Given the description of an element on the screen output the (x, y) to click on. 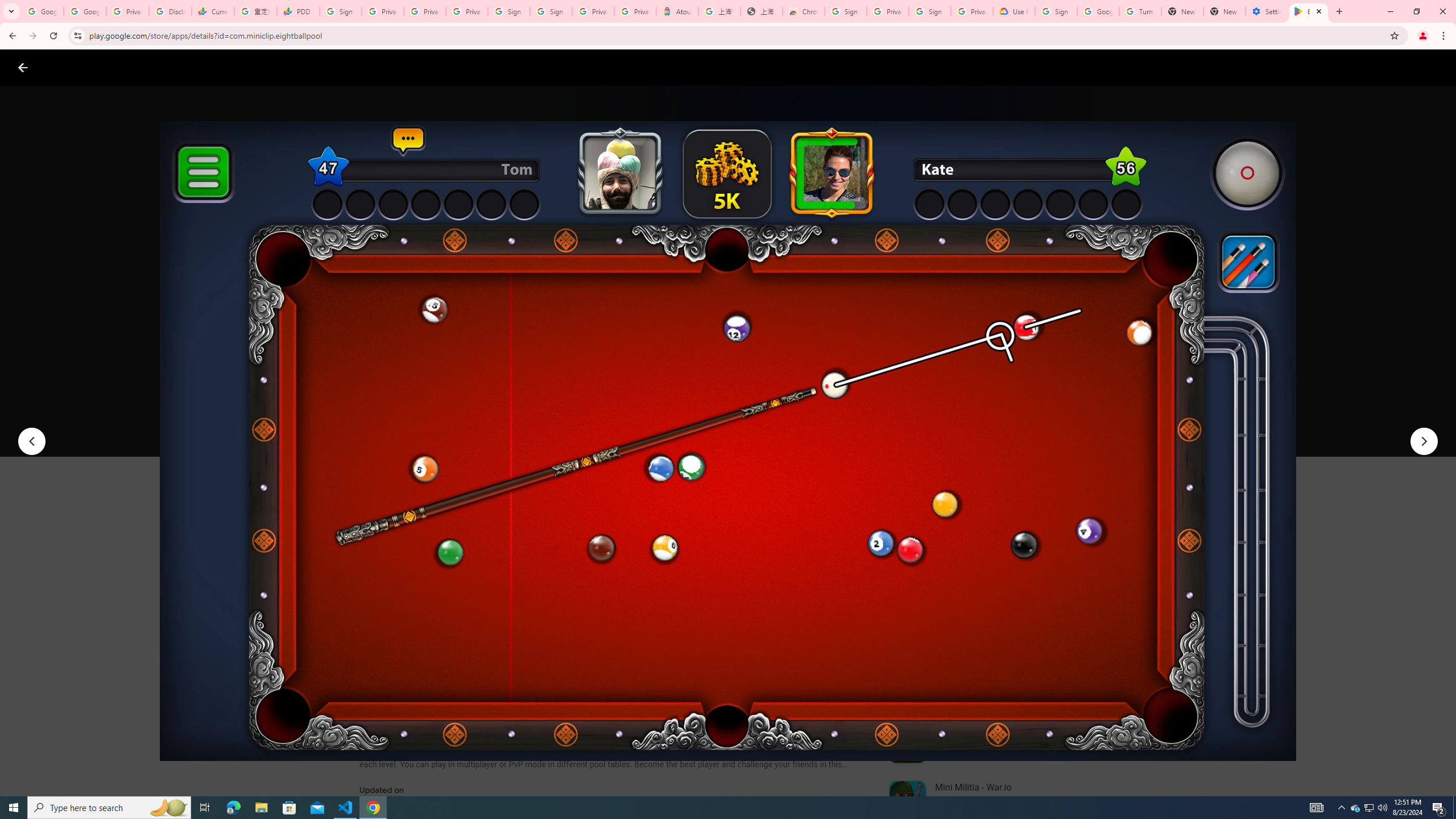
Settings - System (1266, 11)
Add to wishlist (576, 422)
Currencies - Google Finance (212, 11)
Sign in - Google Accounts (930, 11)
Sign in - Google Accounts (845, 11)
Install (416, 423)
Expand (978, 497)
